Given the description of an element on the screen output the (x, y) to click on. 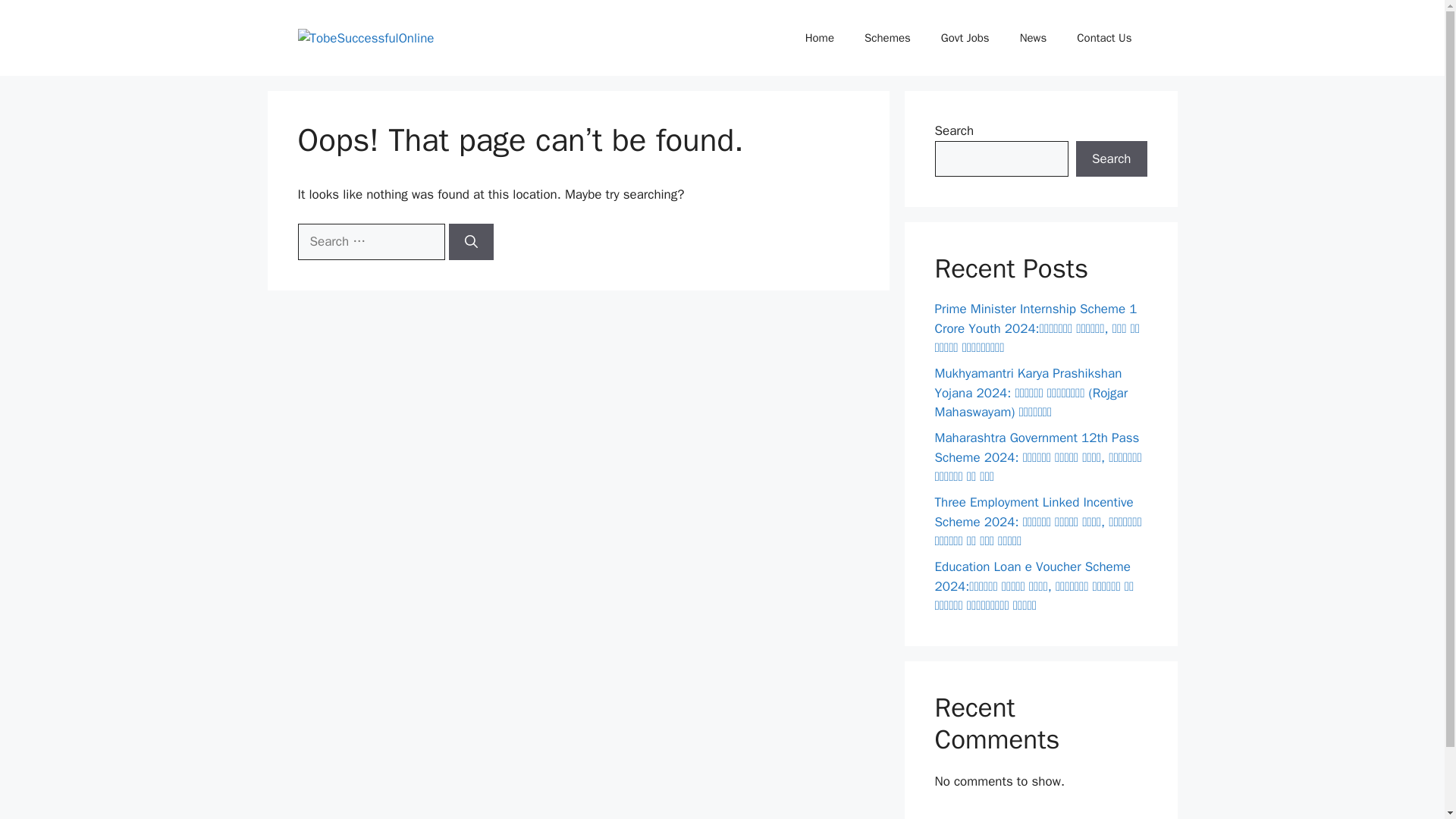
Search for: (370, 241)
Schemes (887, 37)
News (1033, 37)
Search (1111, 158)
Home (819, 37)
Contact Us (1104, 37)
Govt Jobs (965, 37)
